Given the description of an element on the screen output the (x, y) to click on. 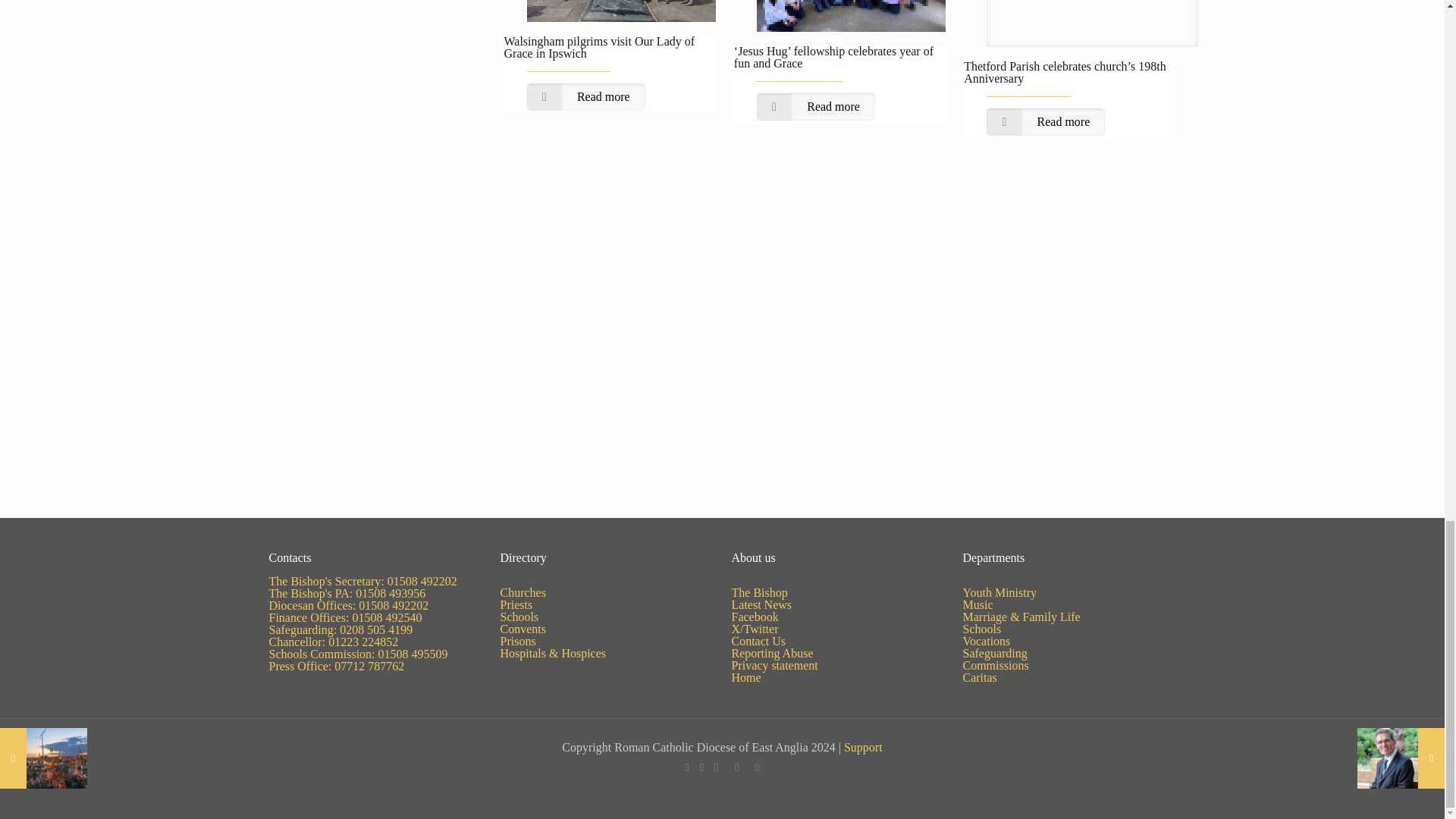
Facebook (687, 767)
RSS (757, 767)
Flickr (736, 767)
YouTube (715, 767)
